Given the description of an element on the screen output the (x, y) to click on. 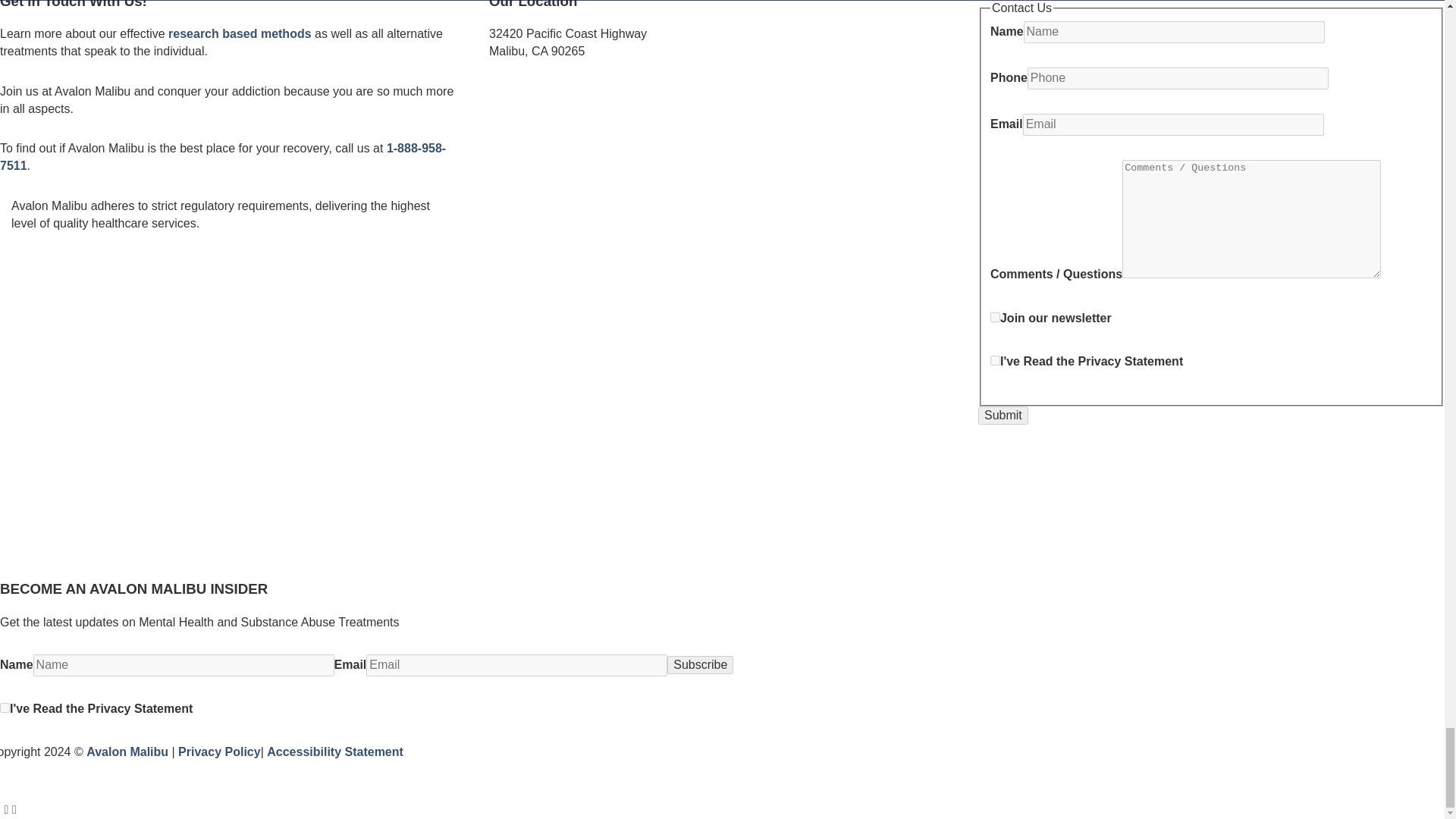
Submit (1002, 415)
Join our newsletter (995, 317)
I've Read the Privacy Statement (995, 360)
Subscribe (699, 665)
I've Read the Privacy Statement (5, 707)
